Given the description of an element on the screen output the (x, y) to click on. 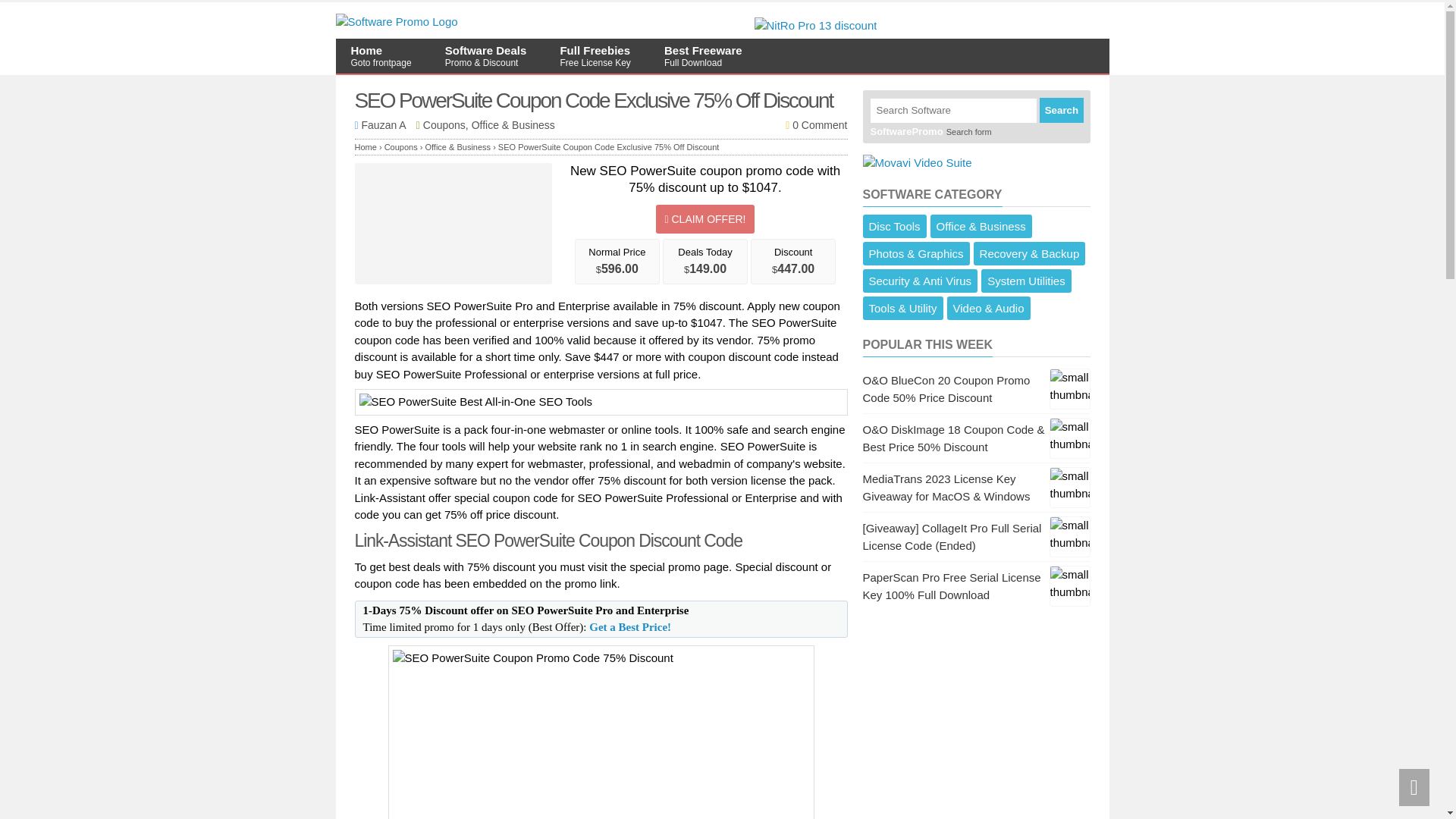
Nitro Pro Coupon Code (815, 24)
Get a Best Price! (594, 54)
Home (630, 626)
SEO PowerSuite Best All-in-One SEO Tools (366, 146)
Coupons (601, 402)
CLAIM OFFER! (402, 146)
Coupons (703, 54)
System Utilities (705, 218)
Search (402, 146)
Home (1026, 280)
Disc Tools (1061, 109)
